Given the description of an element on the screen output the (x, y) to click on. 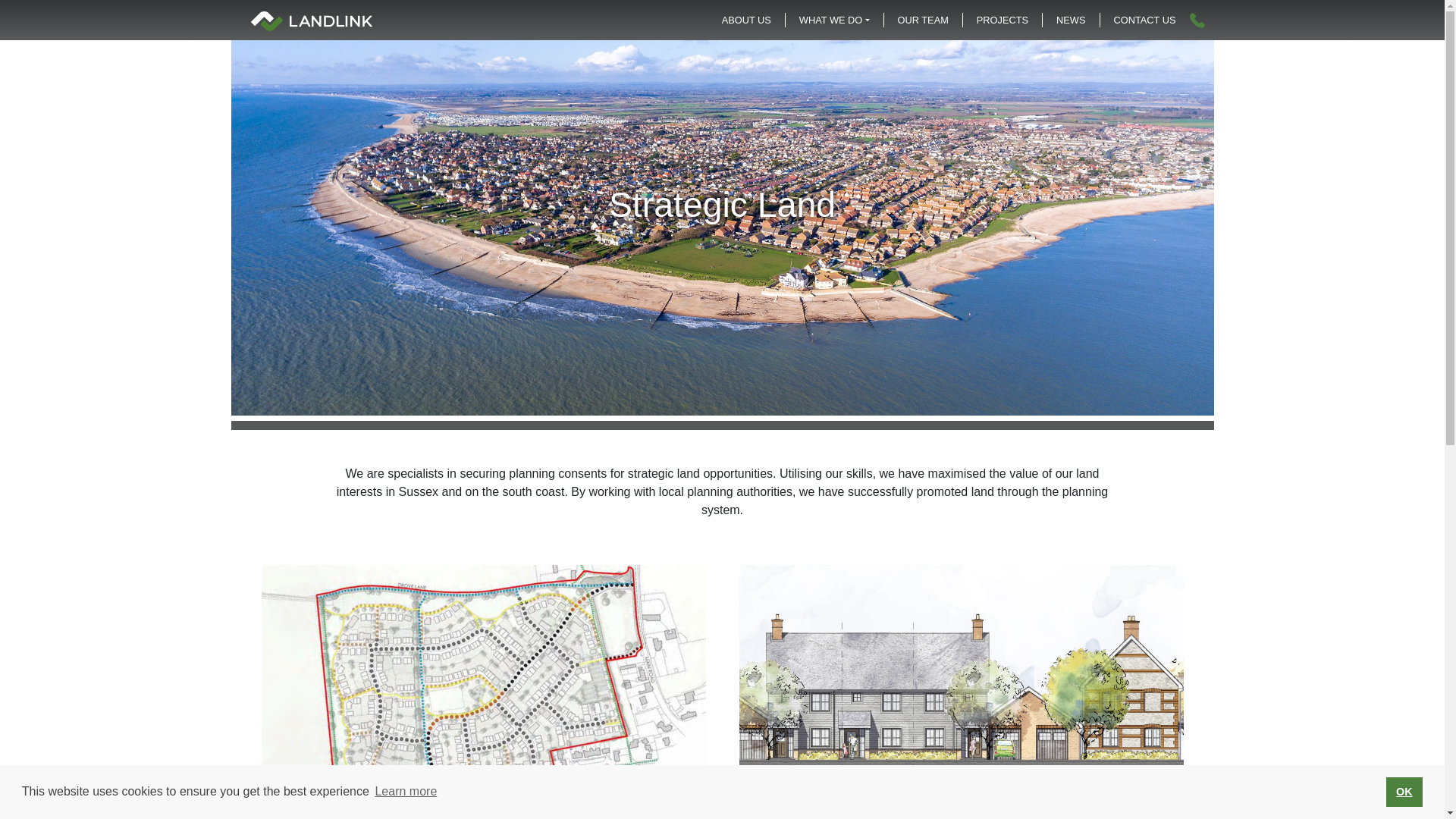
OUR TEAM (922, 20)
ABOUT US (745, 20)
NEWS (1070, 20)
PROJECTS (1002, 20)
CONTACT US (1144, 20)
Projects (1002, 20)
OK (1404, 791)
Contact us (1144, 20)
Learn more (405, 791)
About us (745, 20)
Our Team (922, 20)
Landlink home page (310, 19)
WHAT WE DO (834, 20)
News (1070, 20)
